Given the description of an element on the screen output the (x, y) to click on. 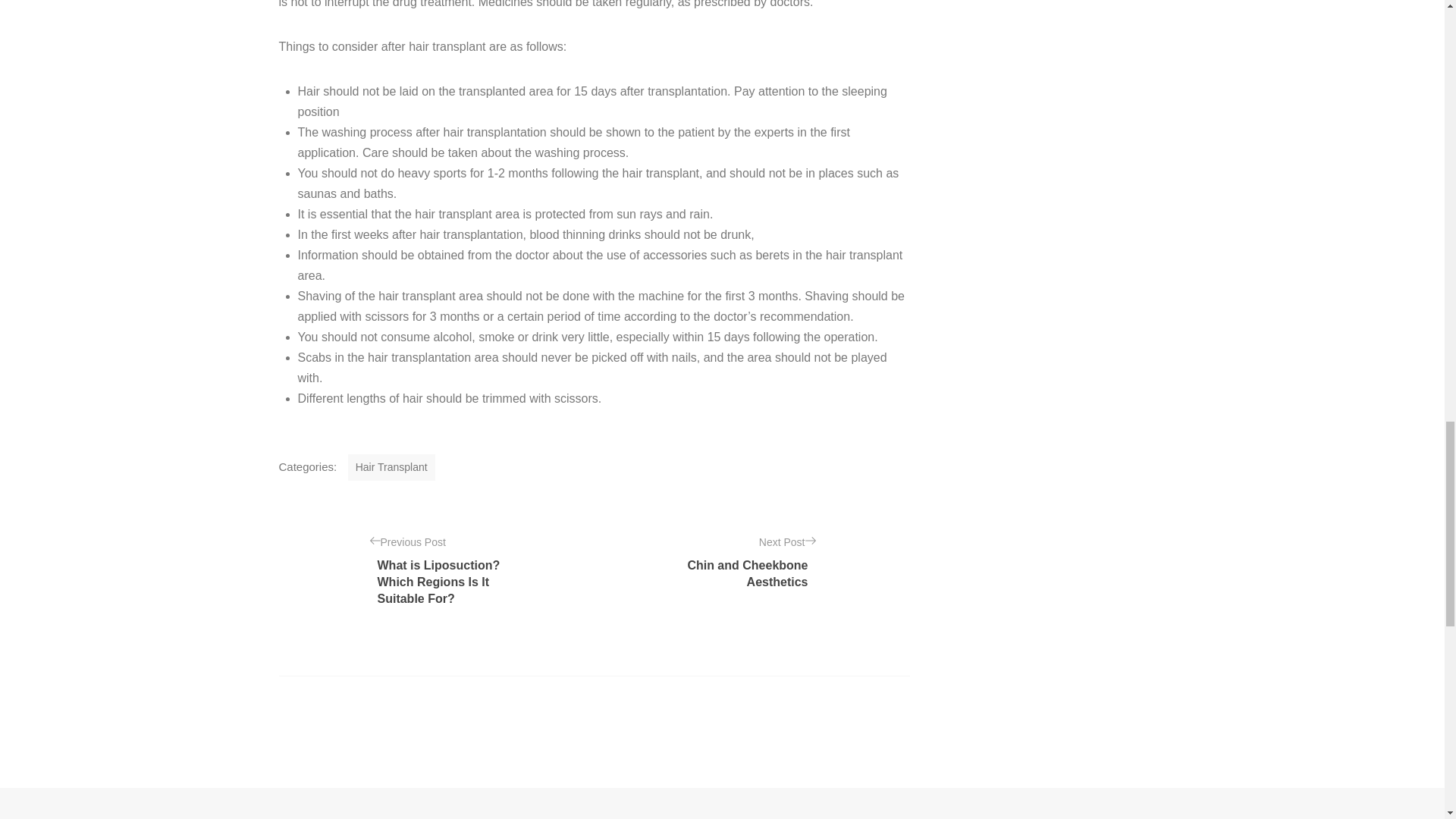
right-arrow (810, 540)
